Given the description of an element on the screen output the (x, y) to click on. 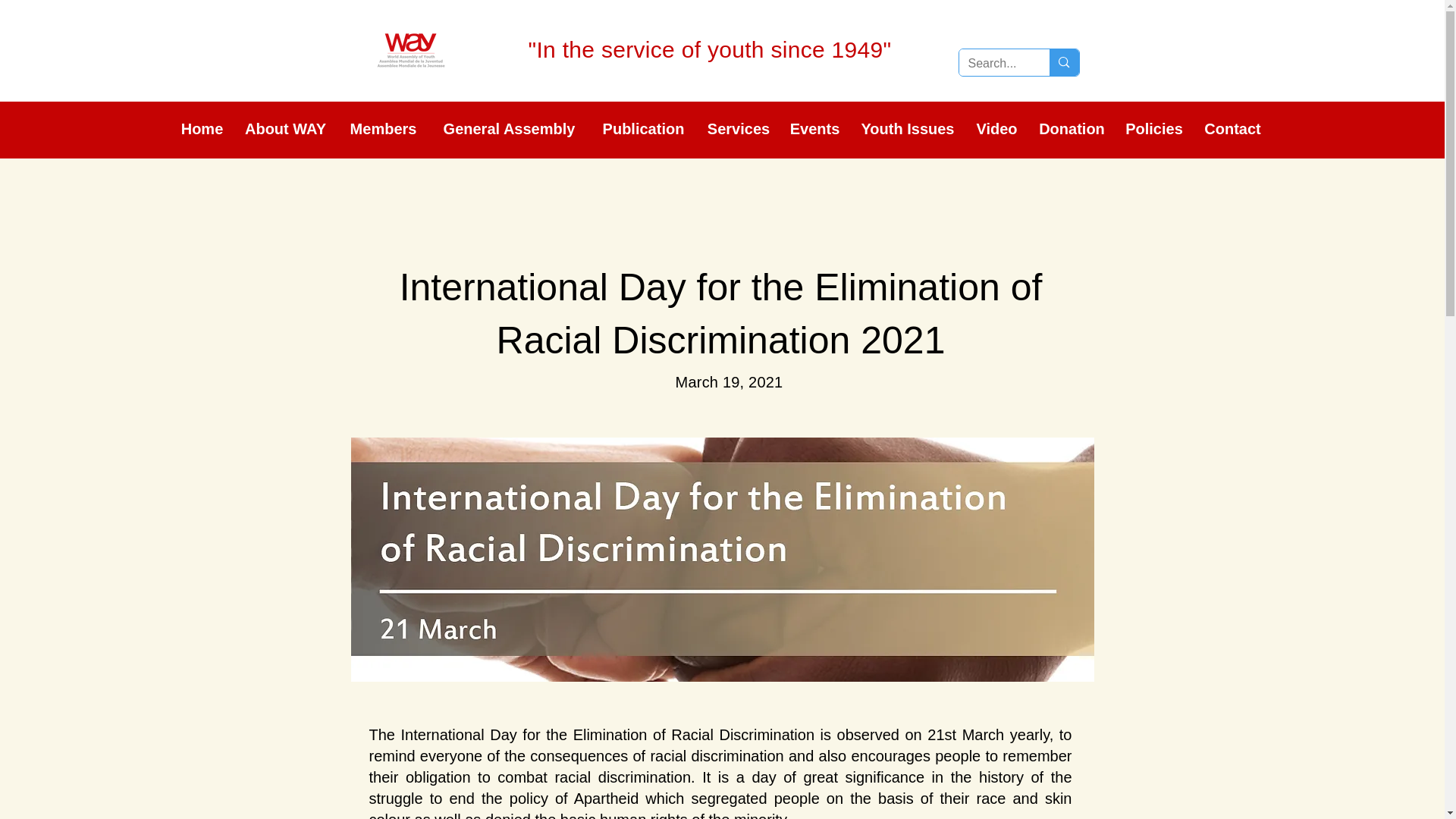
Publication (643, 129)
Home (201, 129)
Youth Issues (907, 129)
Donation (1071, 129)
Contact (1232, 129)
About WAY (284, 129)
Policies (1154, 129)
Video (996, 129)
General Assembly (508, 129)
